Given the description of an element on the screen output the (x, y) to click on. 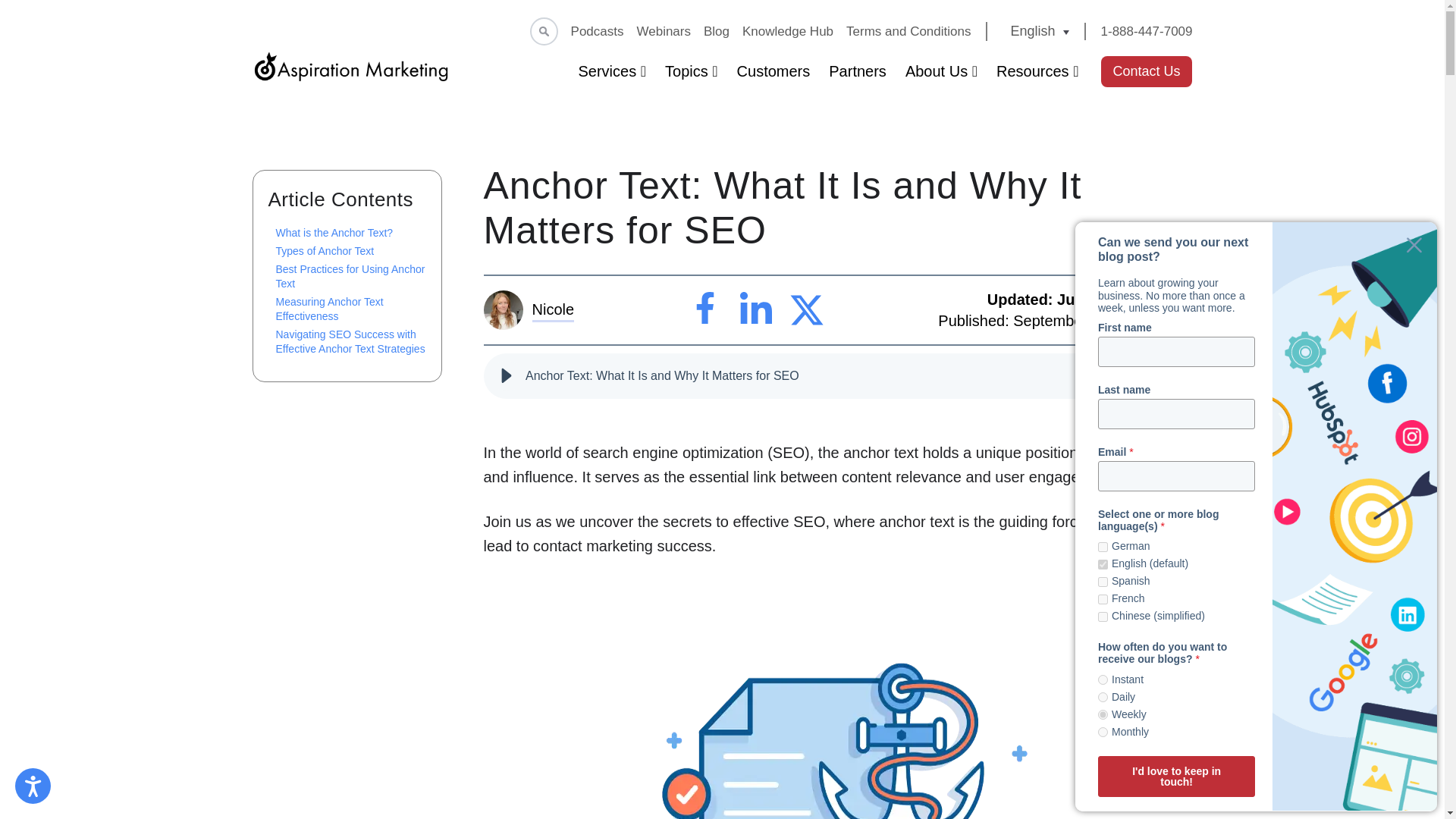
Blog (716, 31)
Services (612, 71)
Aspiration Marketing (349, 66)
opens in a new tab (807, 309)
Podcasts (597, 31)
Knowledge Hub (787, 31)
Terms and Conditions (908, 31)
Open Accessibility Menu (32, 785)
Topics (691, 71)
1-888-447-7009 (1146, 31)
Embedded CTA (1146, 71)
opens in a new tab (705, 309)
opens in a new tab (756, 309)
Webinars (663, 31)
